Given the description of an element on the screen output the (x, y) to click on. 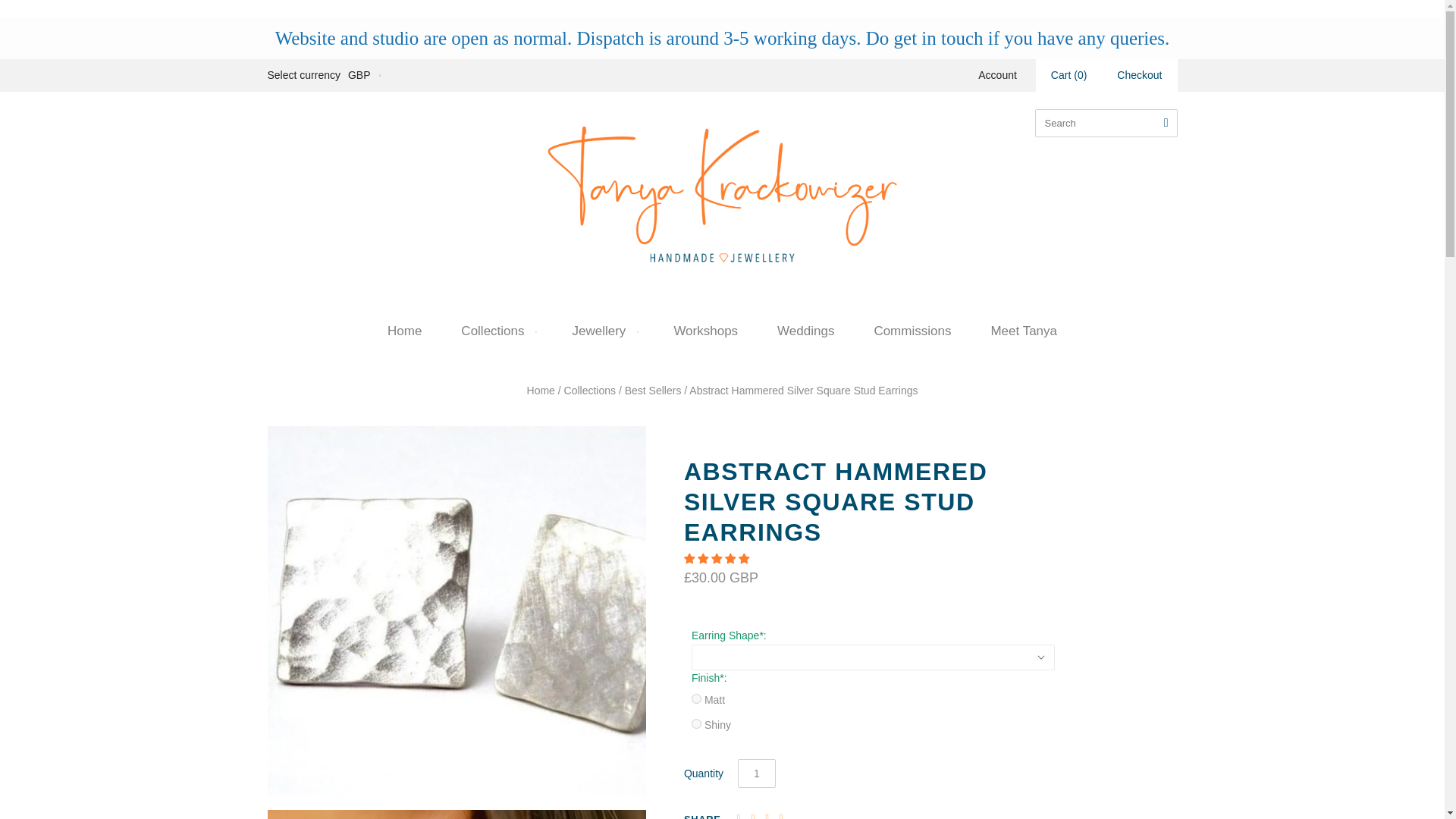
Commissions (912, 330)
Meet Tanya (1024, 330)
Weddings (805, 330)
Account (997, 74)
Collections (496, 330)
1 (757, 773)
Collections (589, 390)
Shiny (696, 723)
Home (540, 390)
Home (404, 330)
Checkout (1139, 74)
Jewellery (603, 330)
Best Sellers (652, 390)
Matt (696, 698)
Workshops (705, 330)
